Given the description of an element on the screen output the (x, y) to click on. 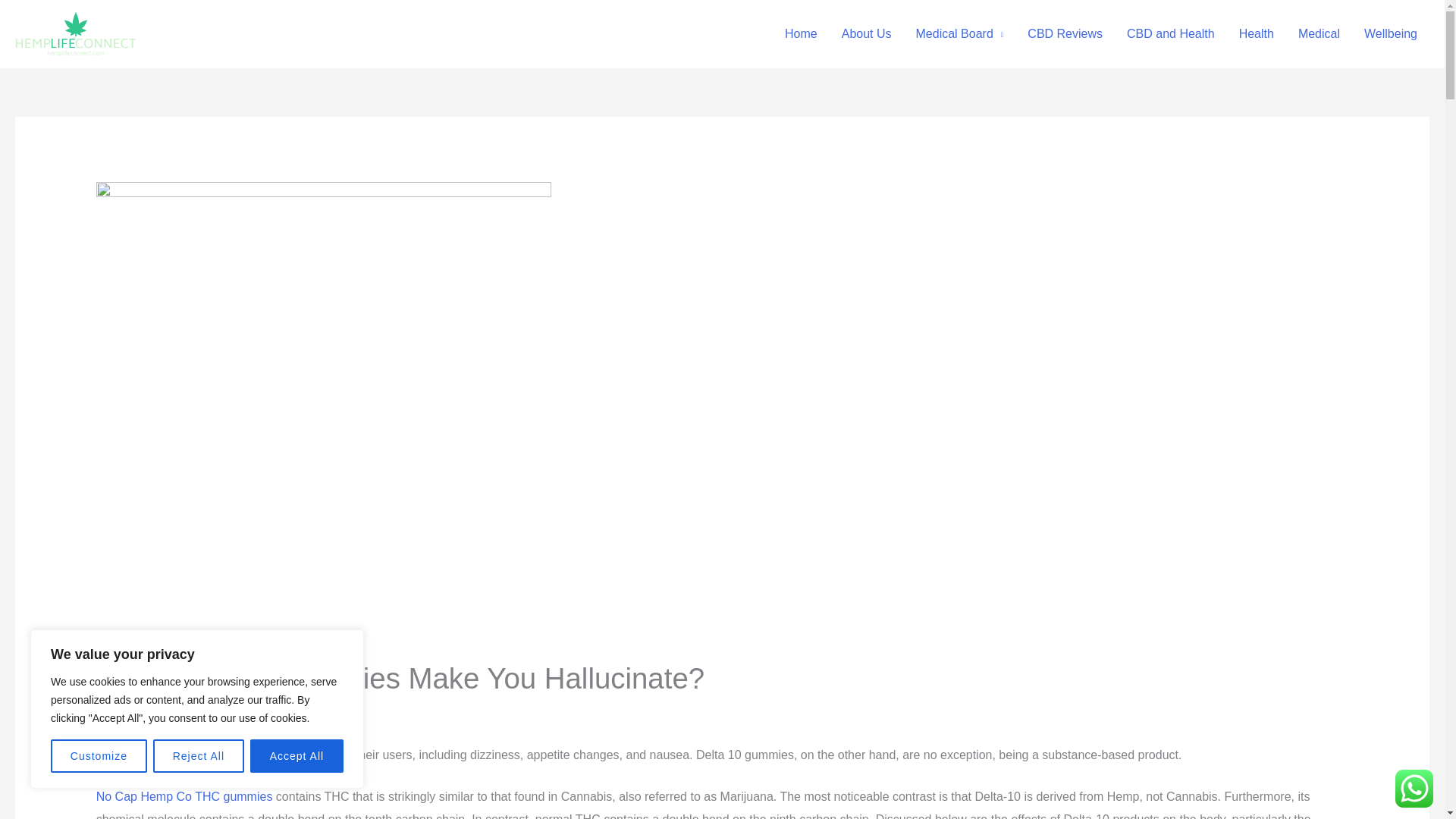
Medical Board (960, 33)
Accept All (296, 756)
About Us (866, 33)
CBD and Health (1171, 33)
Home (801, 33)
Wellbeing (1390, 33)
Customize (98, 756)
Reject All (198, 756)
View all posts by hemplifeconnect (239, 709)
Health (1256, 33)
